Given the description of an element on the screen output the (x, y) to click on. 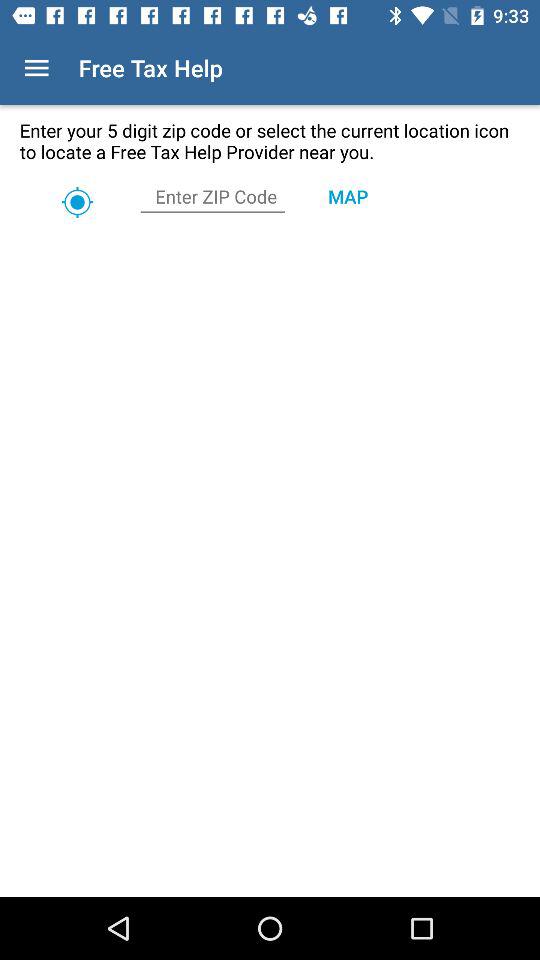
press icon above the enter your 5 icon (36, 68)
